Given the description of an element on the screen output the (x, y) to click on. 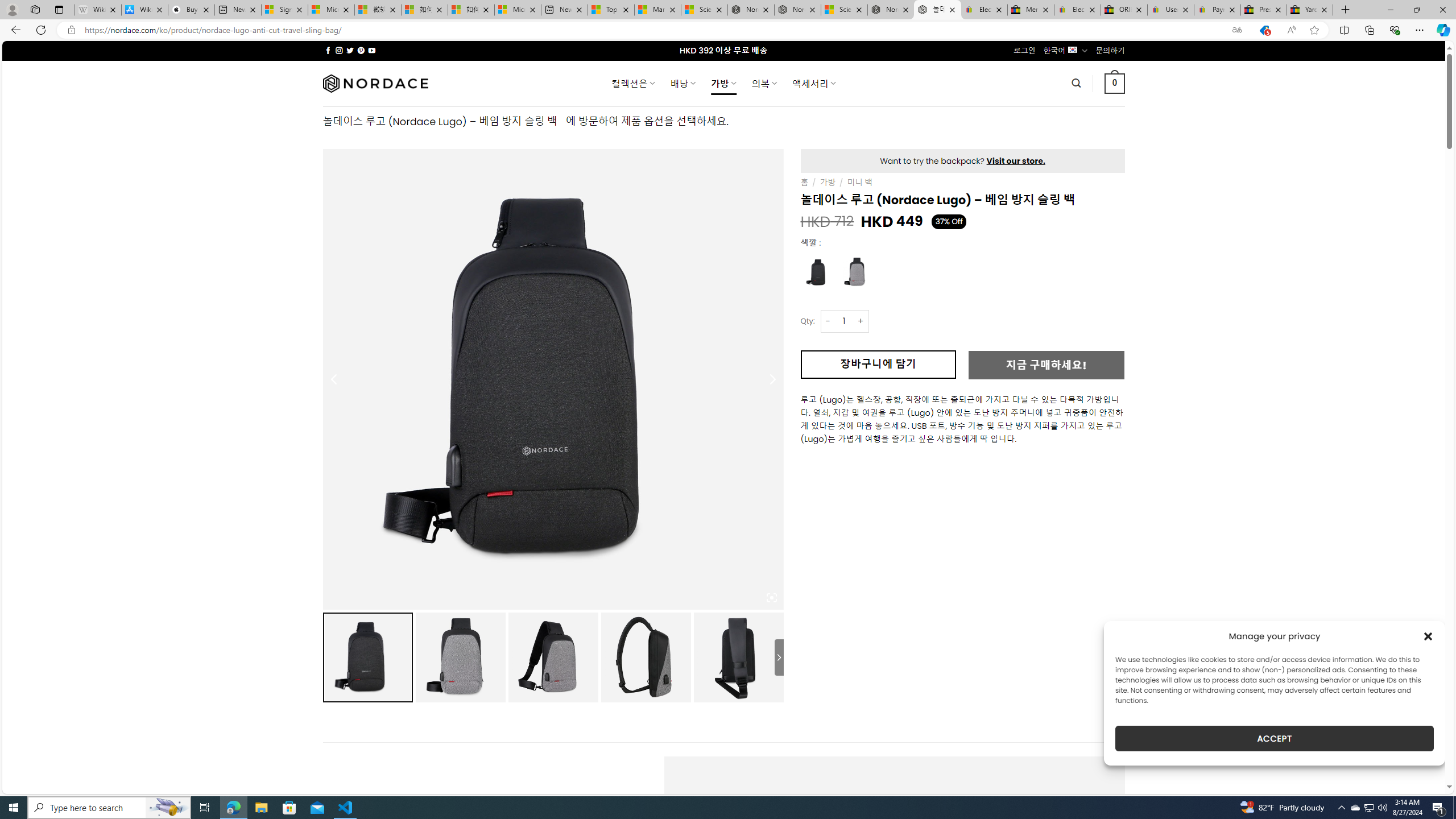
Follow on Facebook (327, 50)
Marine life - MSN (656, 9)
Show translate options (1236, 29)
Nordace - Summer Adventures 2024 (890, 9)
